Given the description of an element on the screen output the (x, y) to click on. 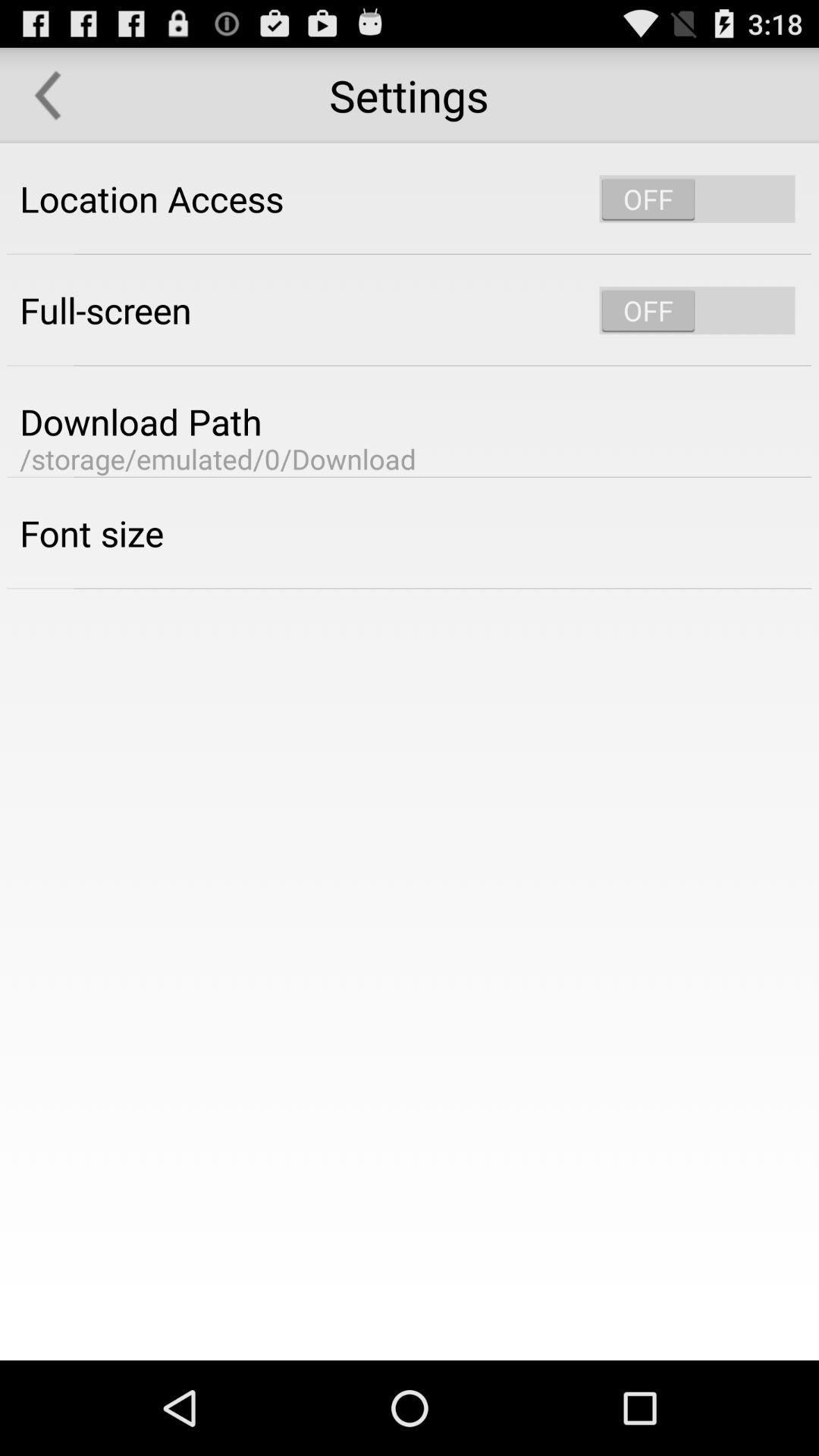
swich on/off location access (697, 198)
